Given the description of an element on the screen output the (x, y) to click on. 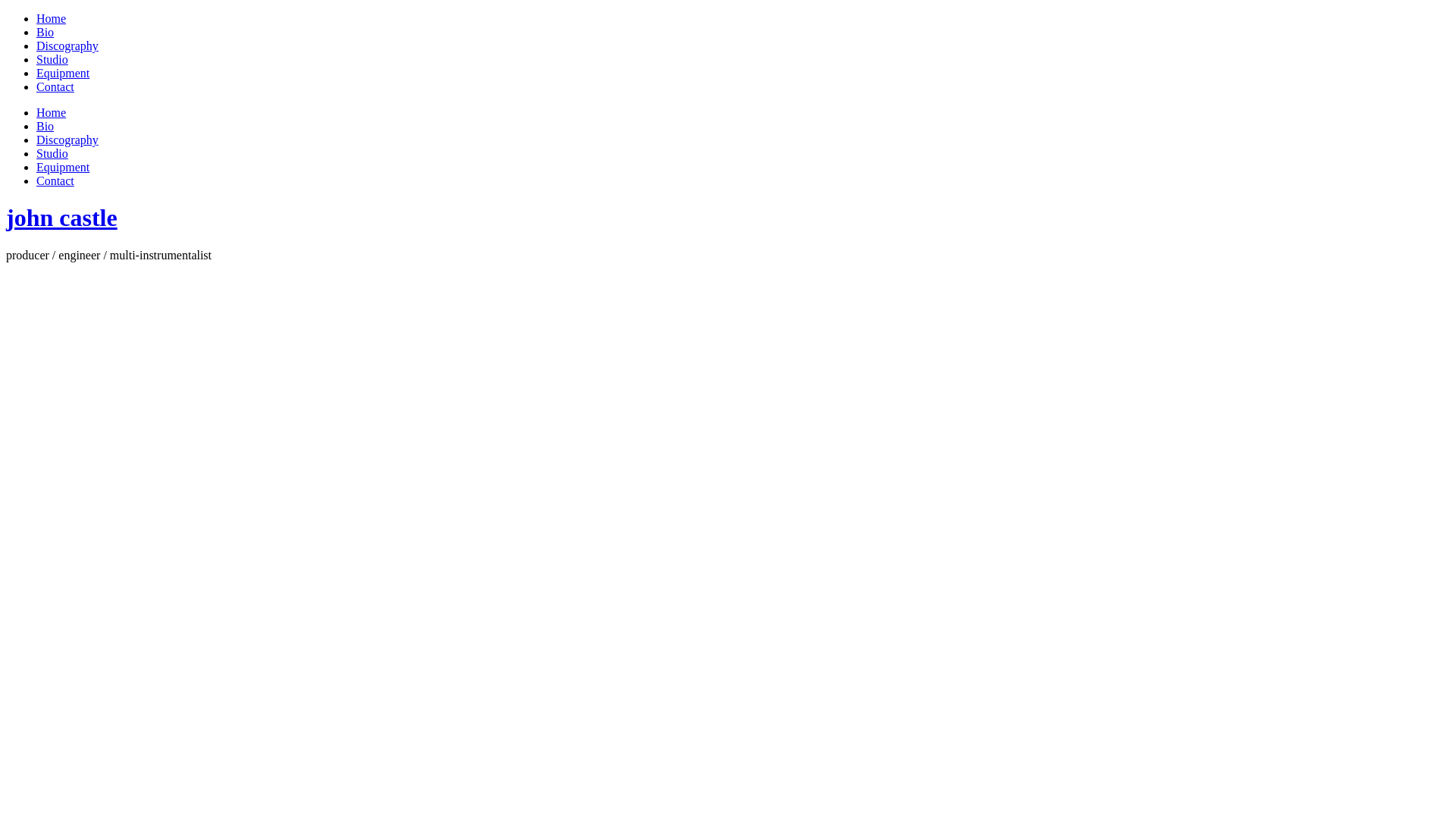
Discography Element type: text (67, 139)
Studio Element type: text (52, 153)
Studio Element type: text (52, 59)
Discography Element type: text (67, 45)
Home Element type: text (50, 18)
Contact Element type: text (55, 180)
john castle Element type: text (61, 217)
Contact Element type: text (55, 86)
Bio Element type: text (44, 125)
Equipment Element type: text (62, 166)
Home Element type: text (50, 112)
Equipment Element type: text (62, 72)
Bio Element type: text (44, 31)
